Given the description of an element on the screen output the (x, y) to click on. 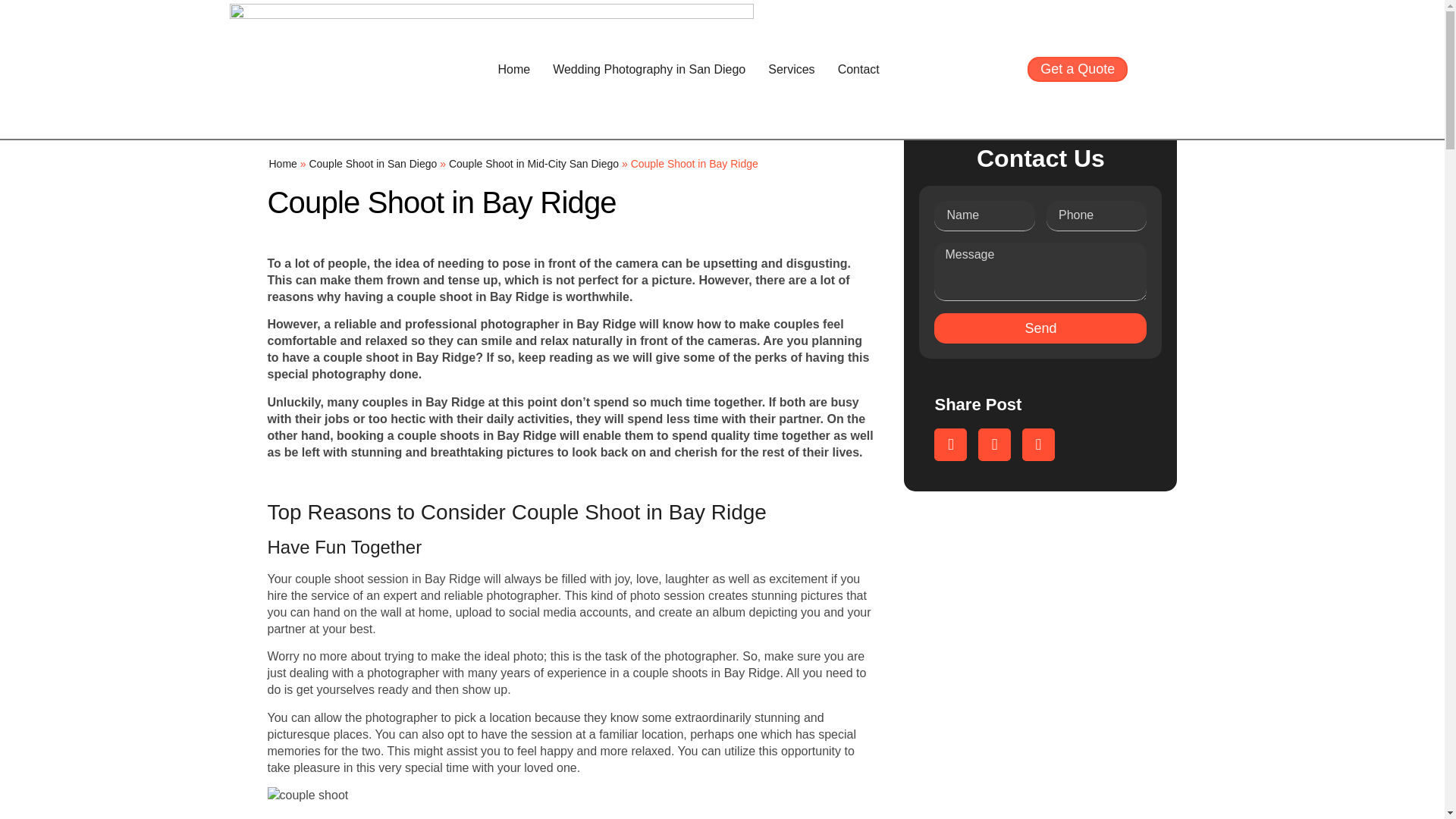
Wedding Photography in San Diego (649, 69)
Services (791, 69)
Home (513, 69)
